Given the description of an element on the screen output the (x, y) to click on. 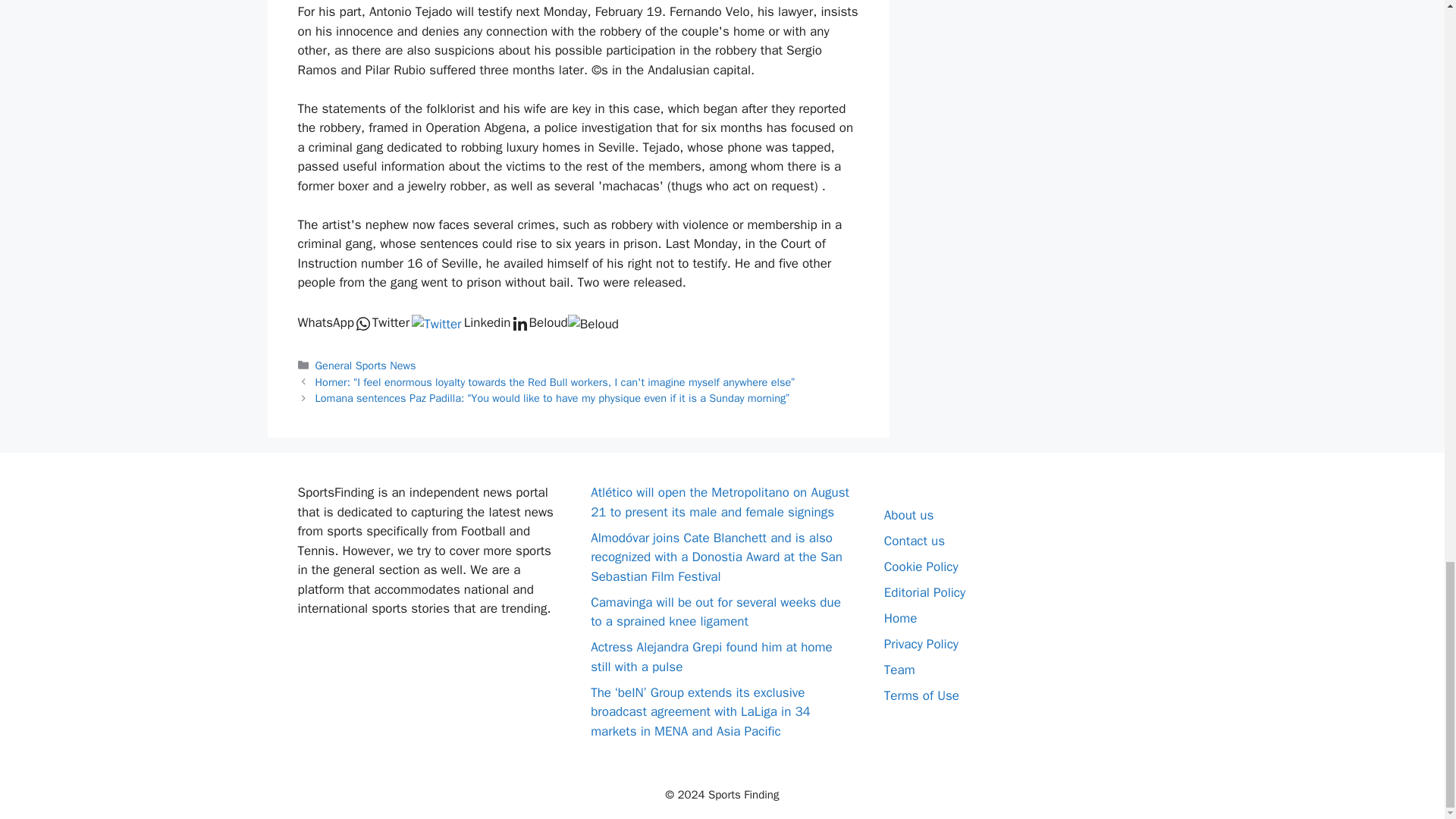
Editorial Policy (924, 592)
Contact us (913, 540)
Cookie Policy (920, 566)
Actress Alejandra Grepi found him at home still with a pulse (711, 656)
About us (908, 514)
General Sports News (365, 365)
